Given the description of an element on the screen output the (x, y) to click on. 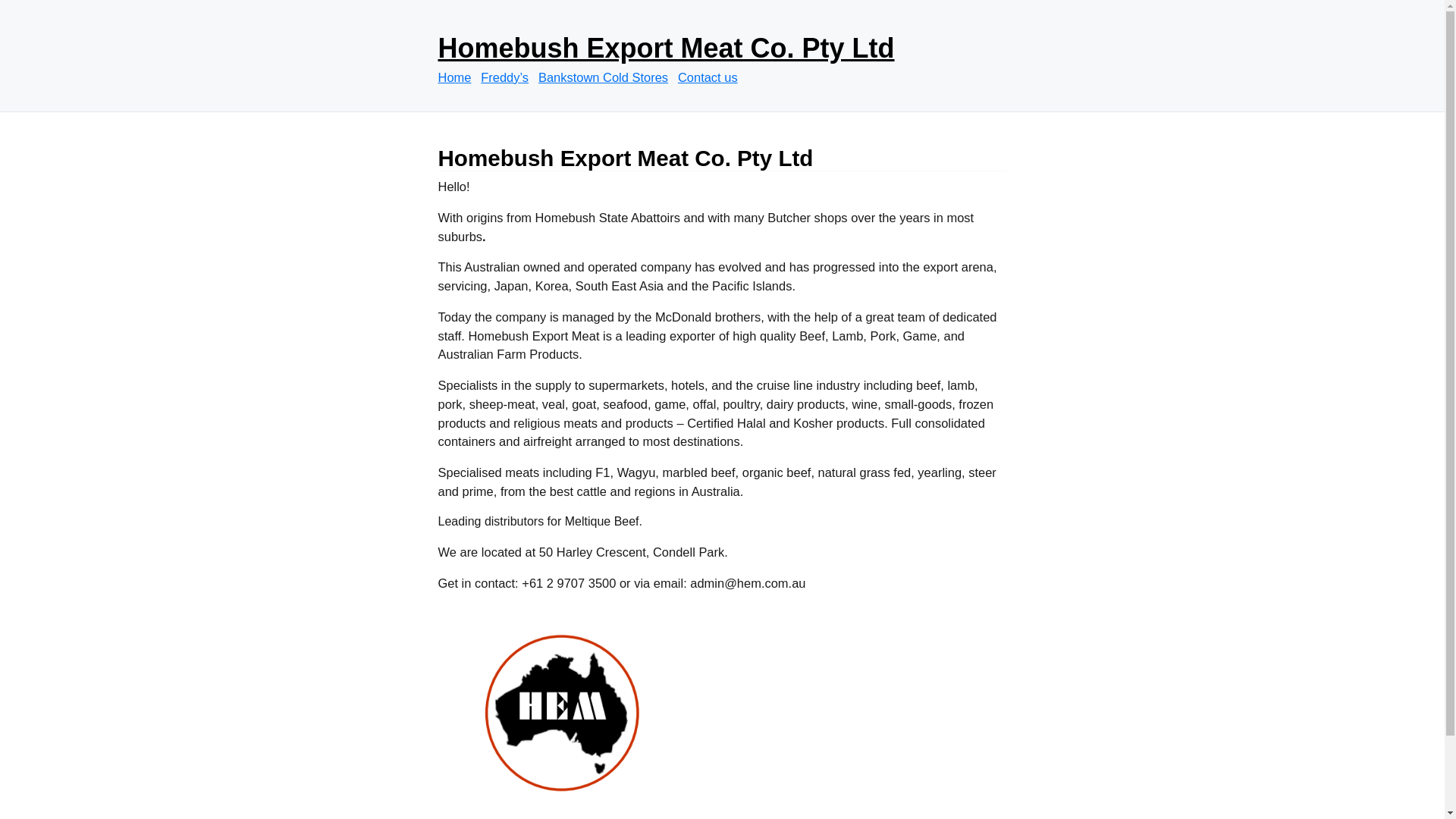
Skip to content Element type: text (436, 24)
Contact us Element type: text (710, 77)
Bankstown Cold Stores Element type: text (606, 77)
Homebush Export Meat Co. Pty Ltd Element type: text (666, 47)
Home Element type: text (457, 77)
